Given the description of an element on the screen output the (x, y) to click on. 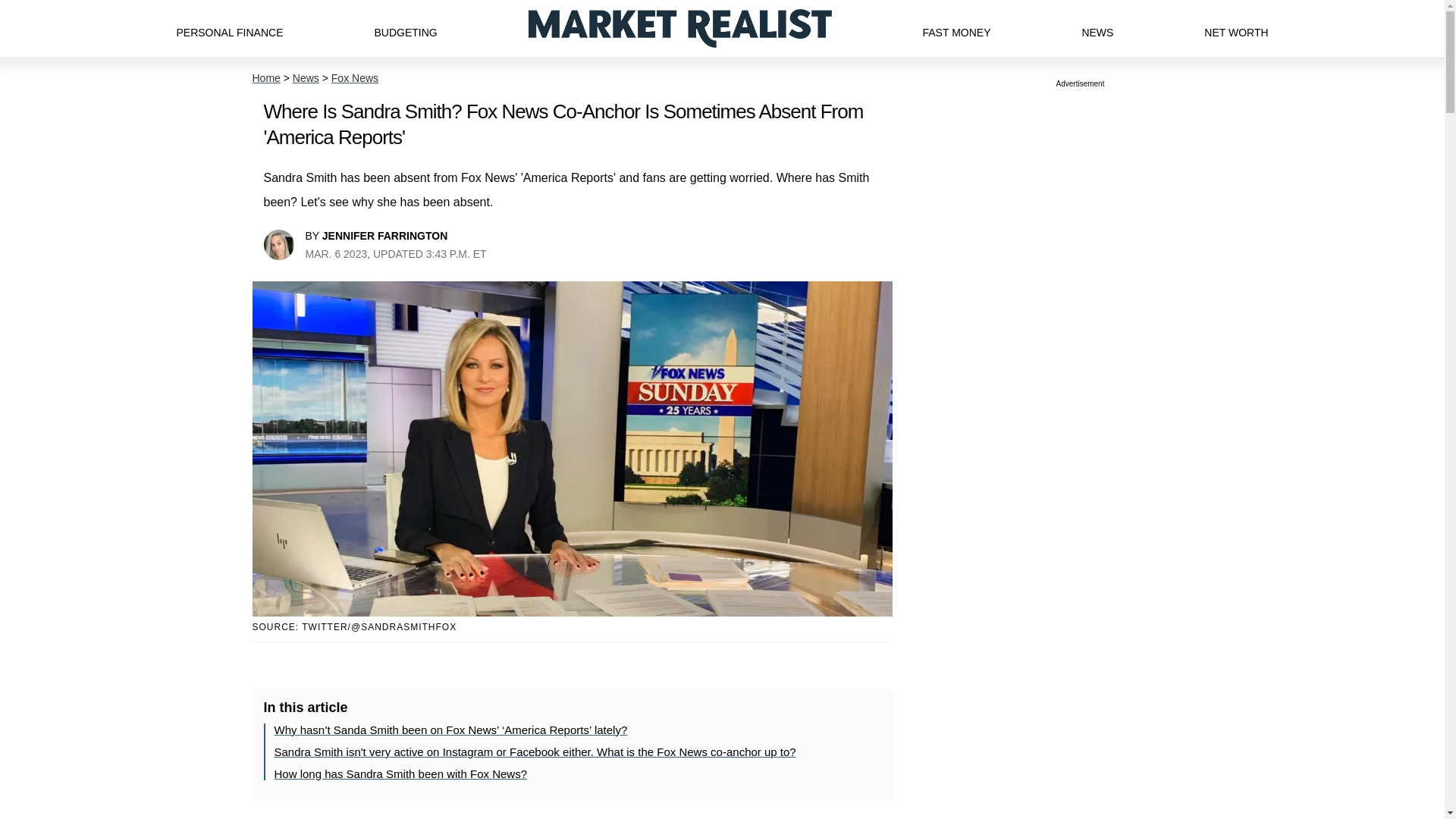
News (305, 78)
JENNIFER FARRINGTON (383, 235)
Home (265, 78)
PERSONAL FINANCE (229, 27)
FAST MONEY (955, 27)
NET WORTH (1236, 27)
Fox News (354, 78)
BUDGETING (405, 27)
How long has Sandra Smith been with Fox News? (401, 773)
NEWS (1097, 27)
